Given the description of an element on the screen output the (x, y) to click on. 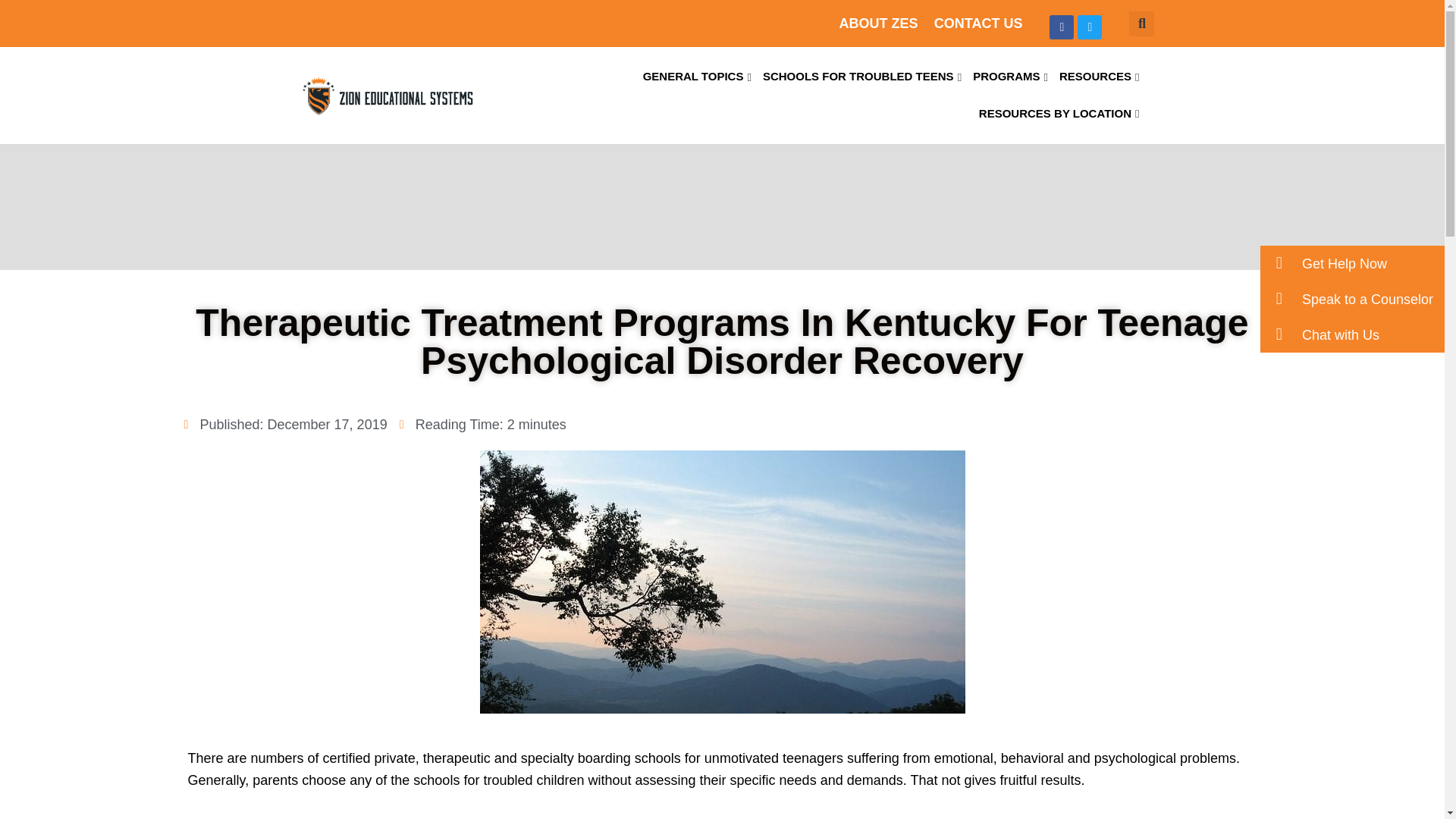
Schools for Troubled Teens (861, 76)
GENERAL TOPICS (697, 76)
Skip to content (11, 31)
ABOUT ZES (877, 23)
General Topics (697, 76)
Programs (1010, 76)
Resources (1099, 76)
CONTACT US (978, 23)
